Given the description of an element on the screen output the (x, y) to click on. 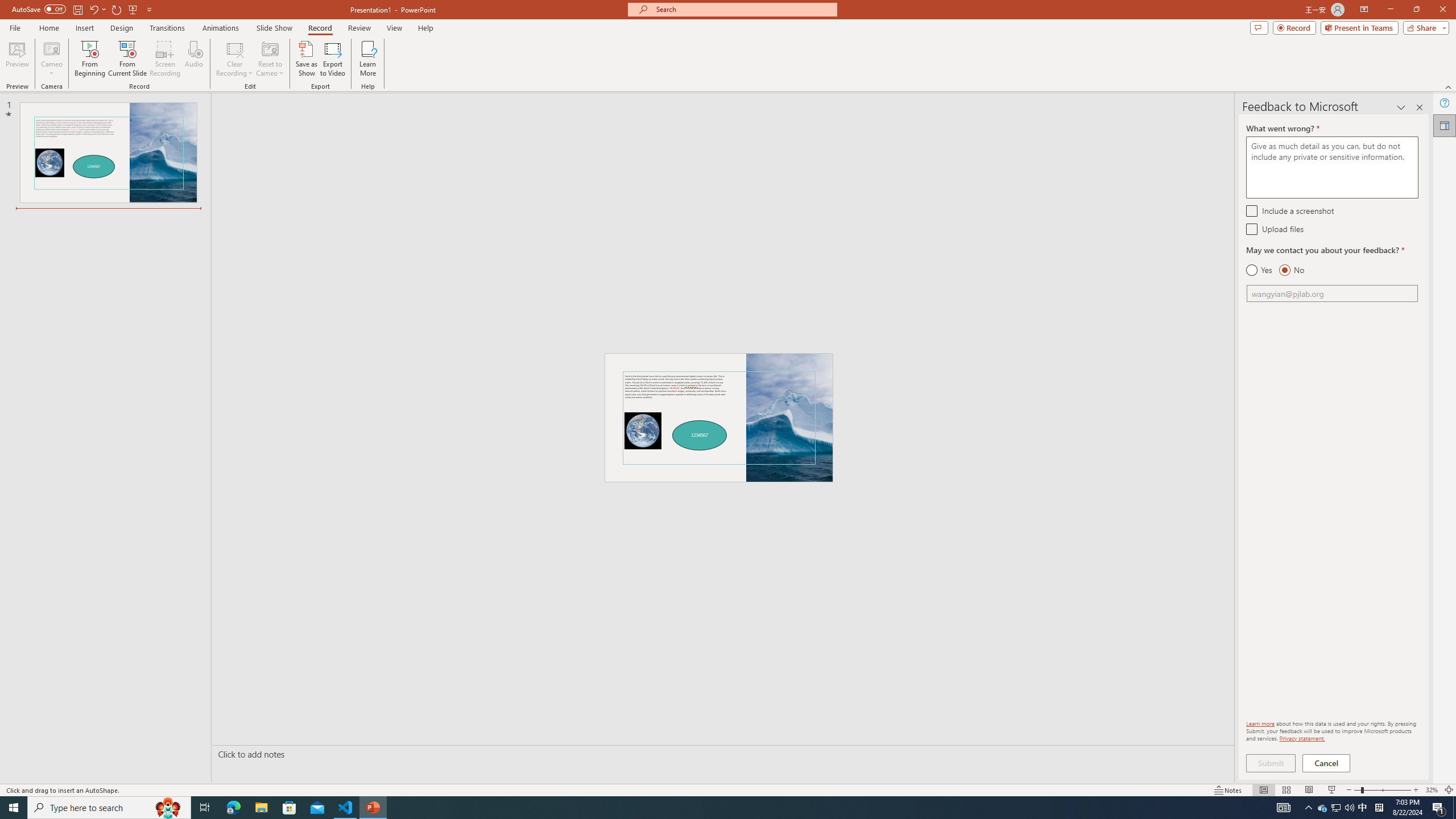
Preview (17, 58)
Zoom In (1415, 790)
Notes  (1227, 790)
From Beginning... (89, 58)
View (395, 28)
Yes (1259, 269)
Customize Quick Access Toolbar (149, 9)
File Tab (15, 27)
Cancel (1327, 763)
Zoom (1382, 790)
Audio (193, 58)
